Given the description of an element on the screen output the (x, y) to click on. 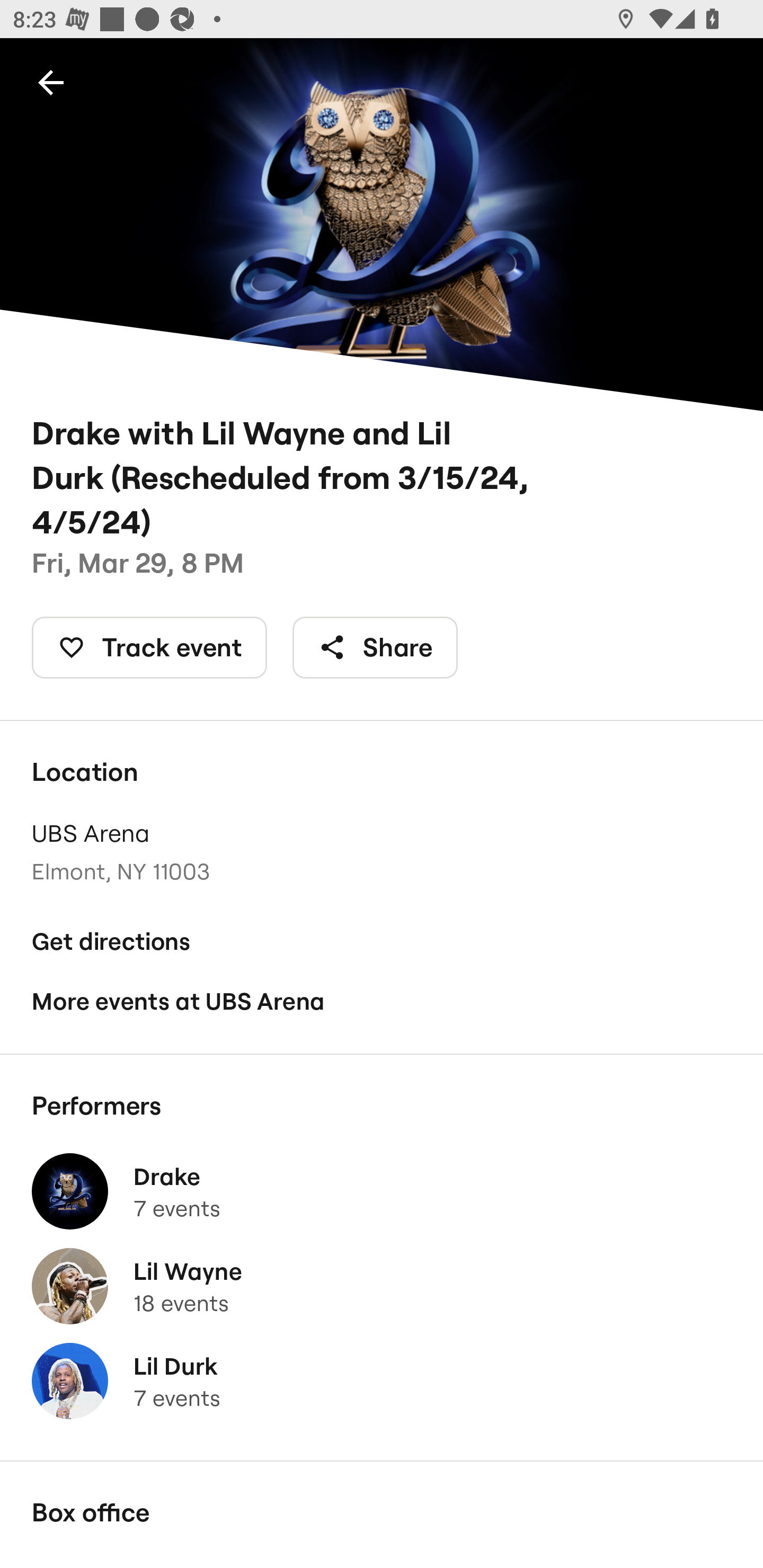
Back (50, 81)
Track event (149, 647)
Share (374, 647)
Get directions (381, 941)
More events at UBS Arena (381, 1001)
Drake 7 events (381, 1191)
Lil Wayne 18 events (381, 1286)
Lil Durk 7 events (381, 1381)
